Given the description of an element on the screen output the (x, y) to click on. 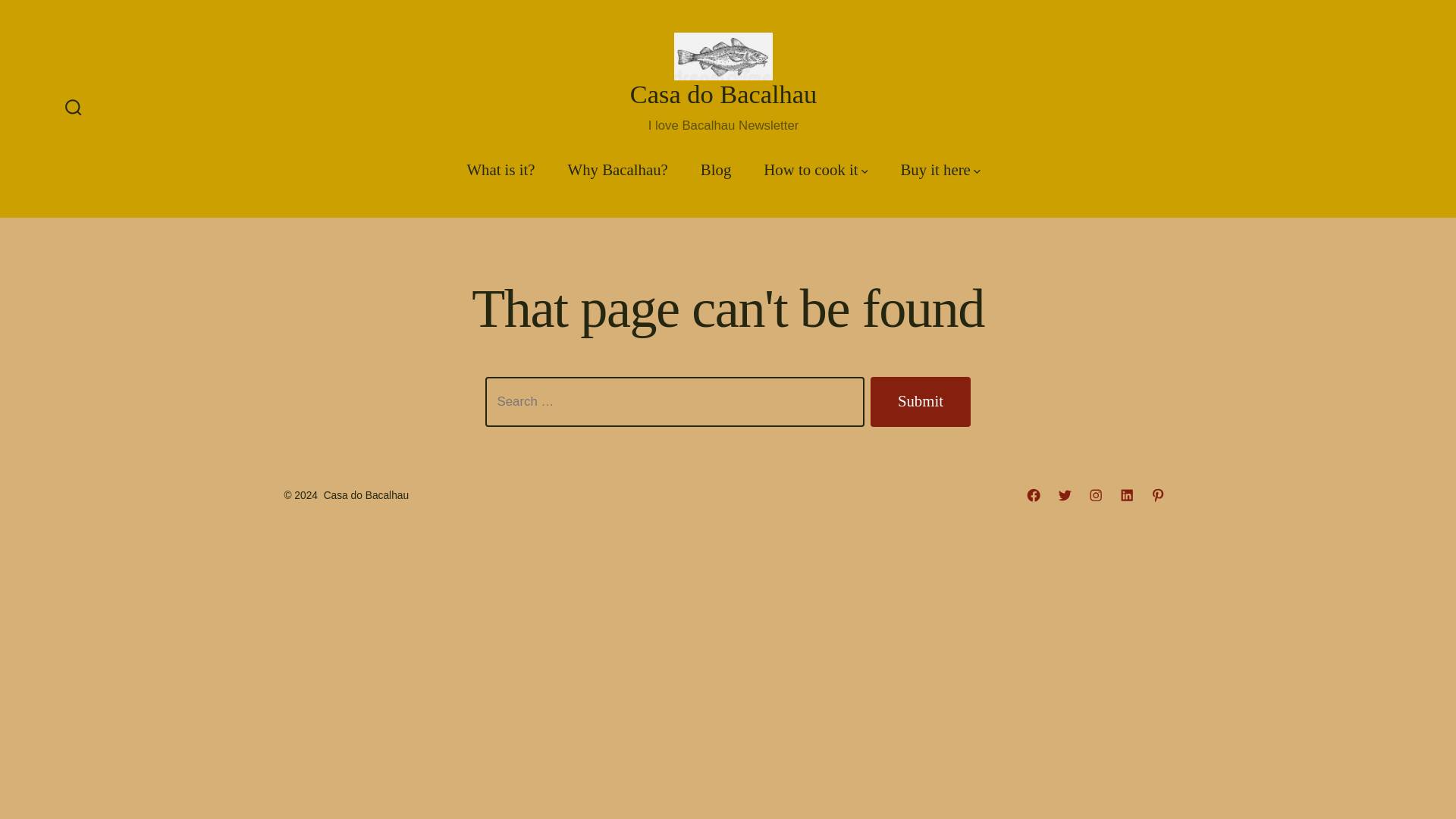
Why Bacalhau? (617, 169)
Open LinkedIn in a new tab (1126, 494)
Buy it here (939, 169)
Open Pinterest in a new tab (1158, 494)
Casa do Bacalhau (723, 95)
Open Instagram in a new tab (1095, 494)
Blog (715, 169)
Submit (920, 401)
How to cook it (814, 169)
What is it? (499, 169)
Search Toggle (73, 108)
Open Facebook in a new tab (1033, 494)
Open Twitter in a new tab (1064, 494)
